Given the description of an element on the screen output the (x, y) to click on. 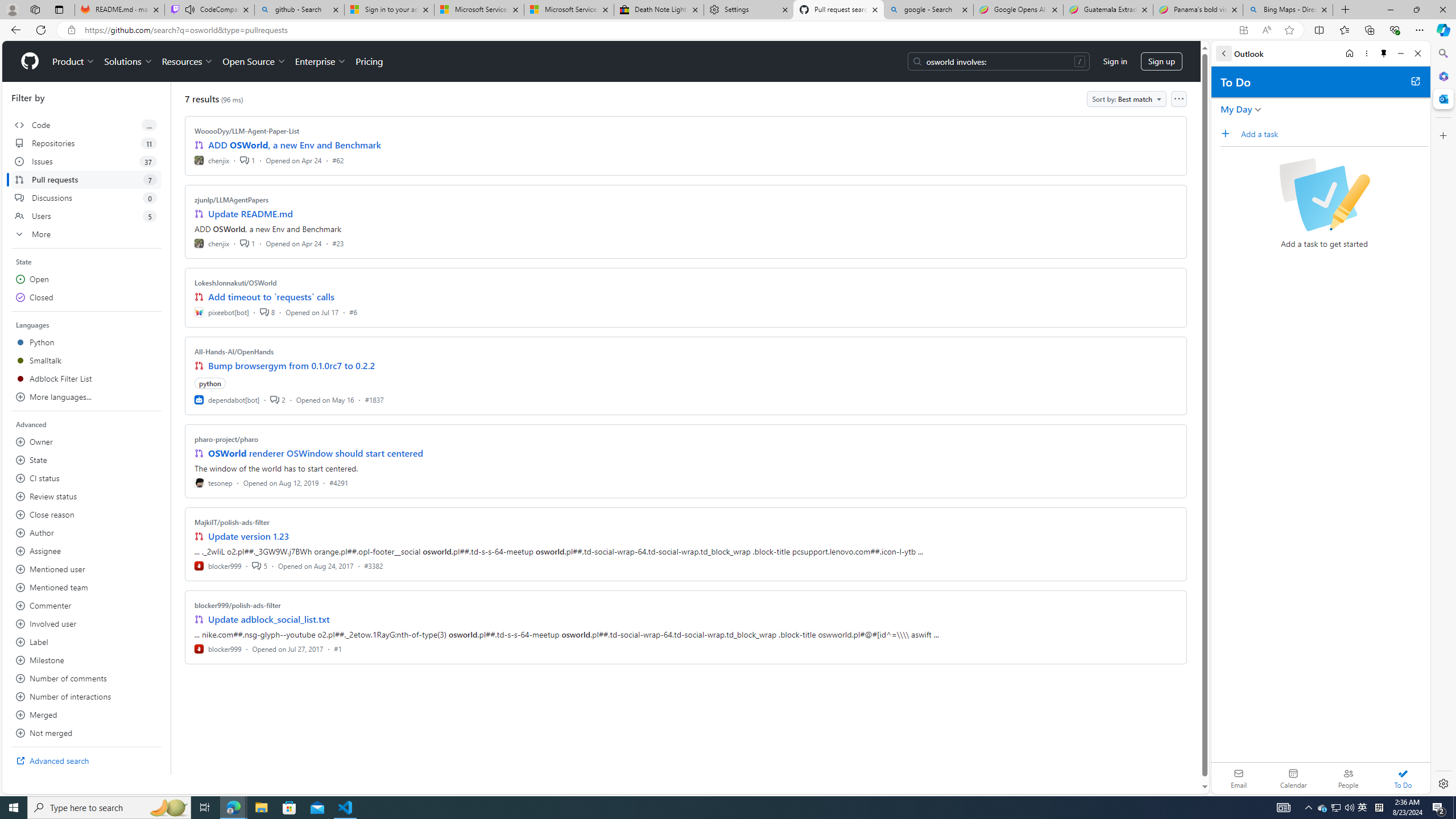
Solutions (128, 60)
#6 (352, 311)
#6 (352, 311)
All-Hands-AI/OpenHands (234, 351)
blocker999 (218, 648)
google - Search (928, 9)
2 (277, 398)
